Given the description of an element on the screen output the (x, y) to click on. 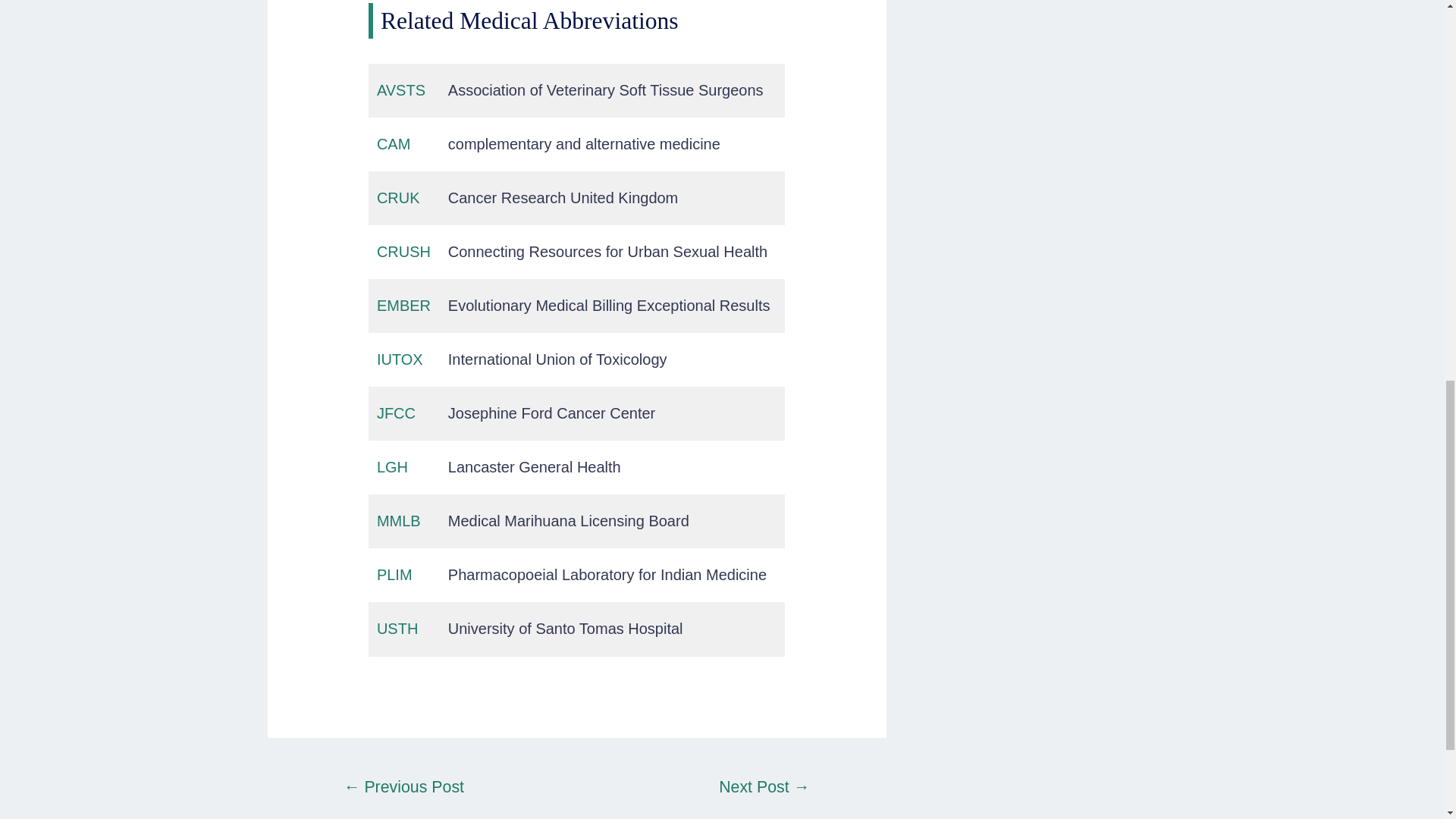
IUTOX (400, 359)
JFCC (395, 412)
MMLB (398, 520)
CRUSH (403, 251)
CAM (393, 143)
PLIM (394, 574)
USTH (397, 628)
CRUK (398, 197)
LGH (392, 466)
EMBER (403, 305)
